Given the description of an element on the screen output the (x, y) to click on. 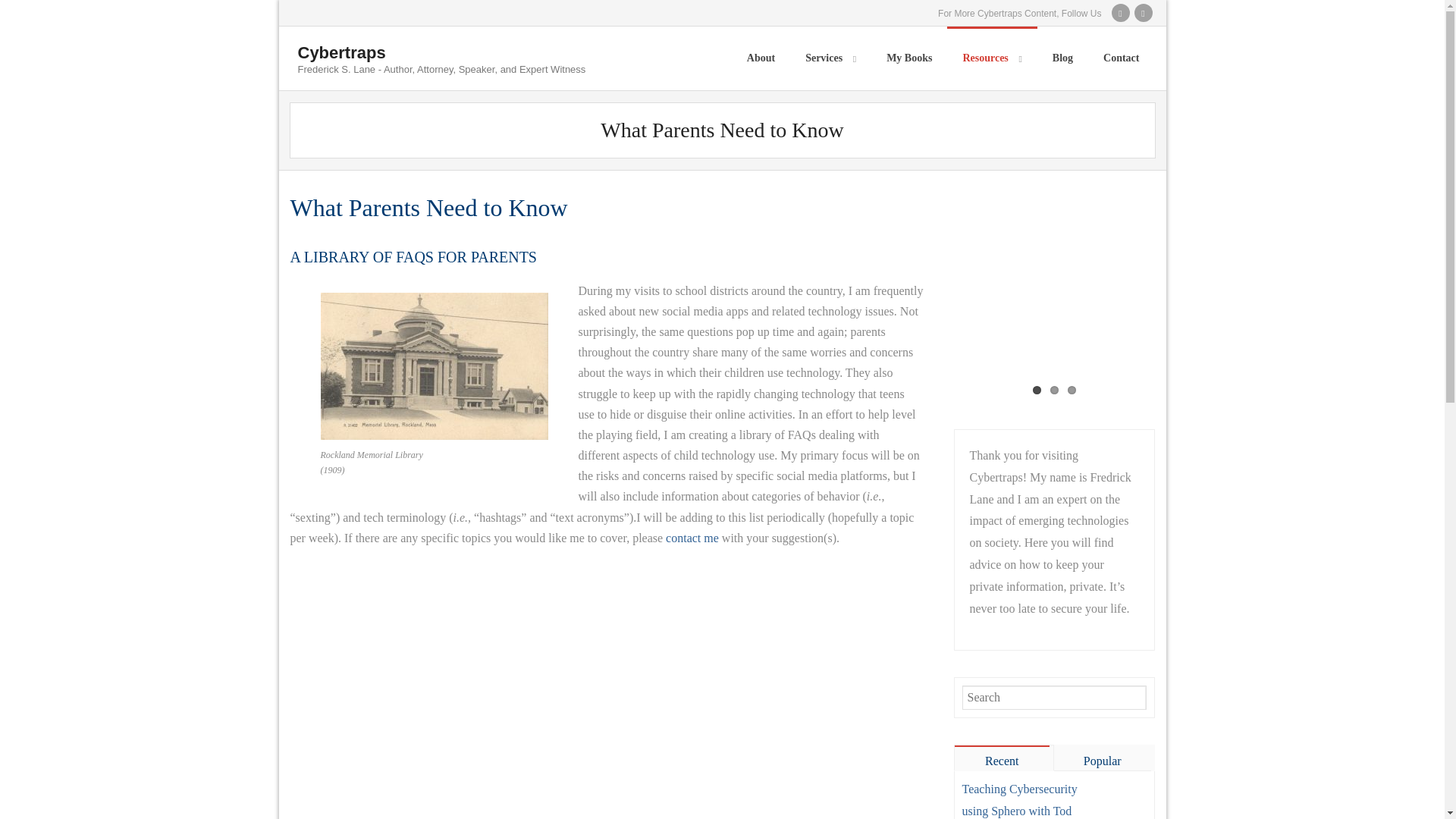
Recent (1003, 757)
My Books (908, 58)
3 (1071, 389)
Search (28, 12)
Contact (1120, 58)
Resources (991, 58)
Popular (1104, 757)
1 (1036, 389)
Cybertraps (441, 53)
About (761, 58)
contact me (692, 537)
2 (1053, 389)
Services (830, 58)
